Given the description of an element on the screen output the (x, y) to click on. 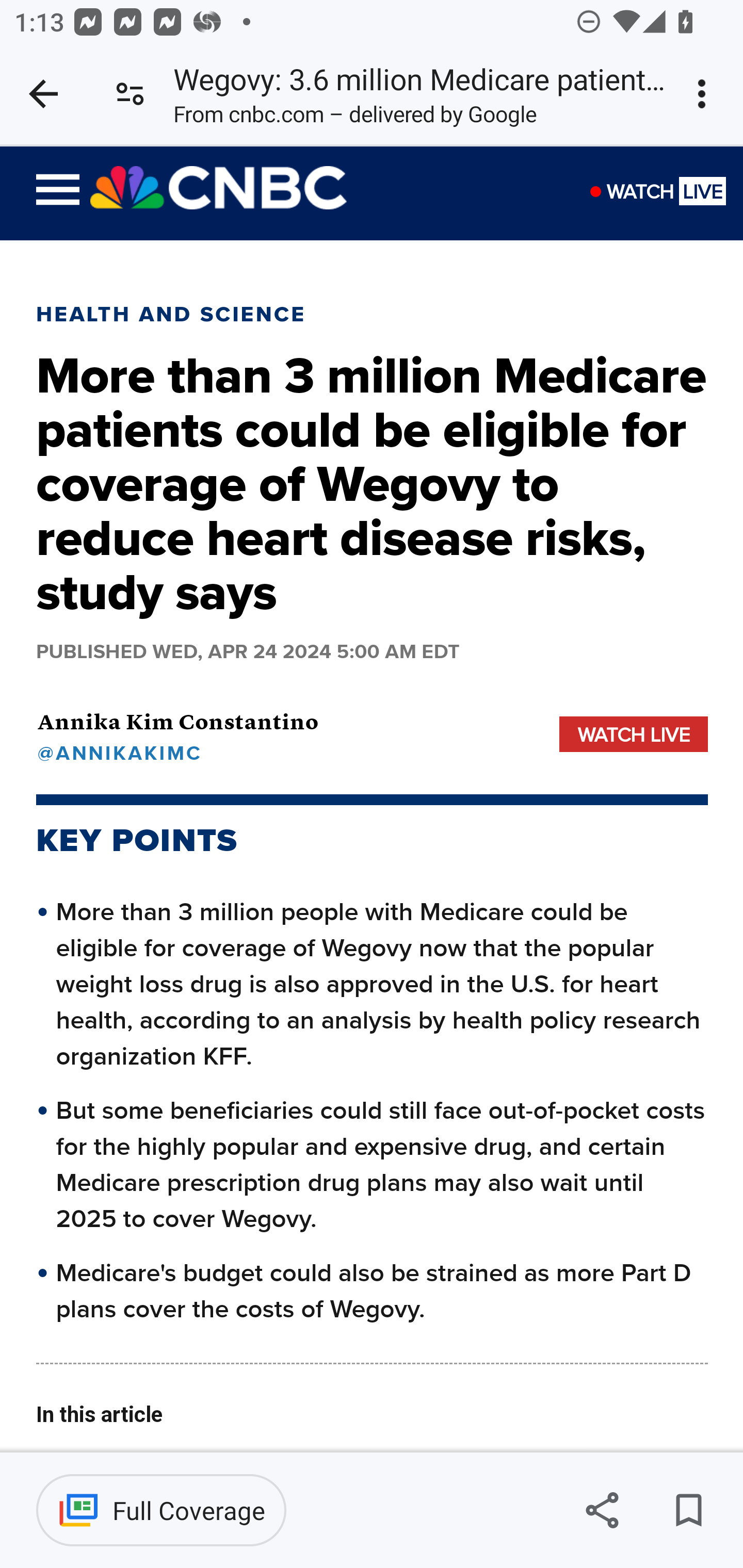
Close tab (43, 93)
Customize and control Google Chrome (705, 93)
Connection is secure (129, 93)
From cnbc.com – delivered by Google (355, 117)
menu icon (58, 192)
header logo image (219, 188)
WATCH LIVE WATCH  LIVE (665, 201)
HEALTH AND SCIENCE (171, 313)
WATCH LIVE (633, 733)
@ANNIKAKIMC (177, 752)
Full Coverage (161, 1509)
Share (601, 1510)
Save for later (688, 1510)
